Given the description of an element on the screen output the (x, y) to click on. 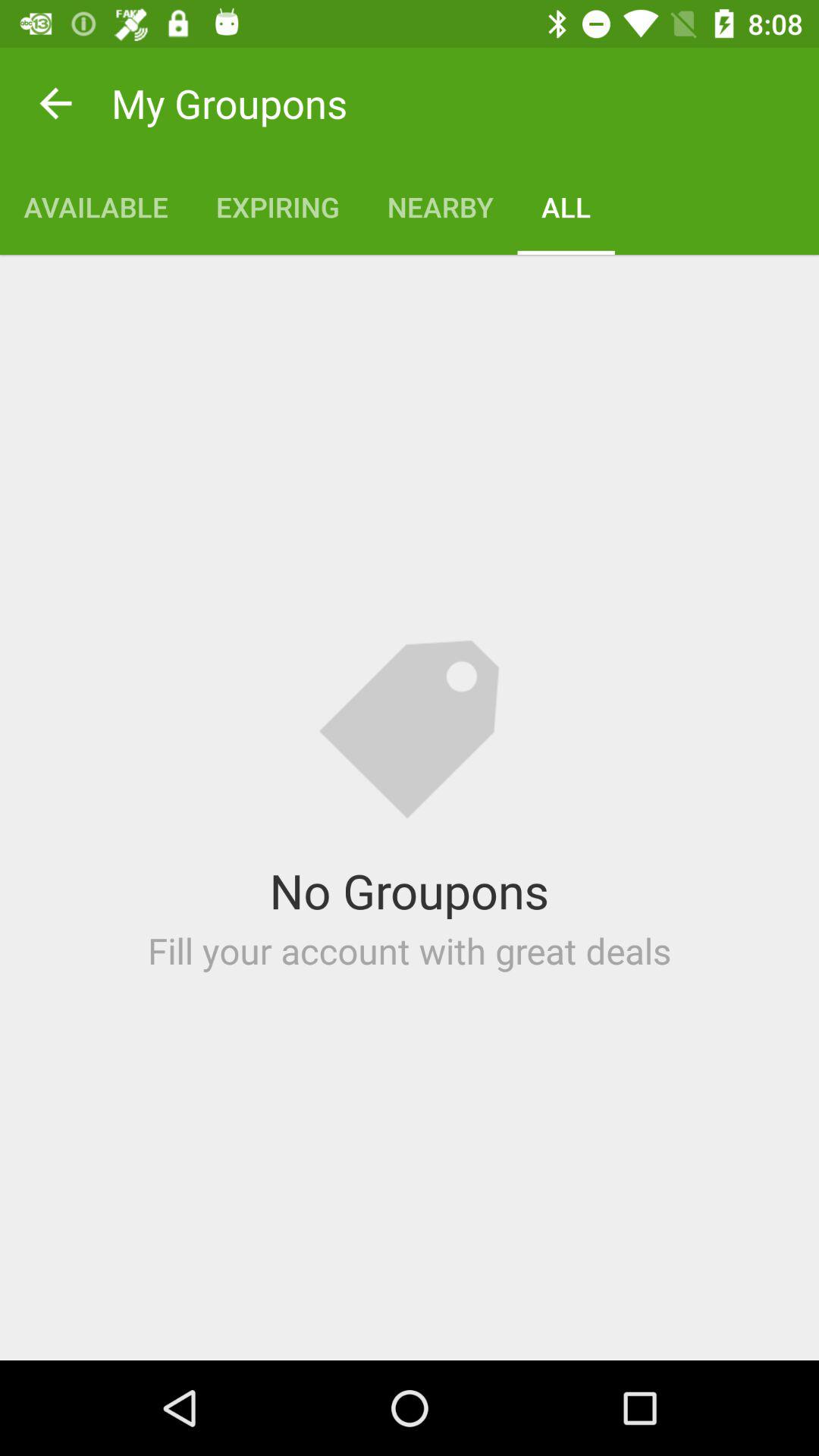
click the item above the available (55, 103)
